Given the description of an element on the screen output the (x, y) to click on. 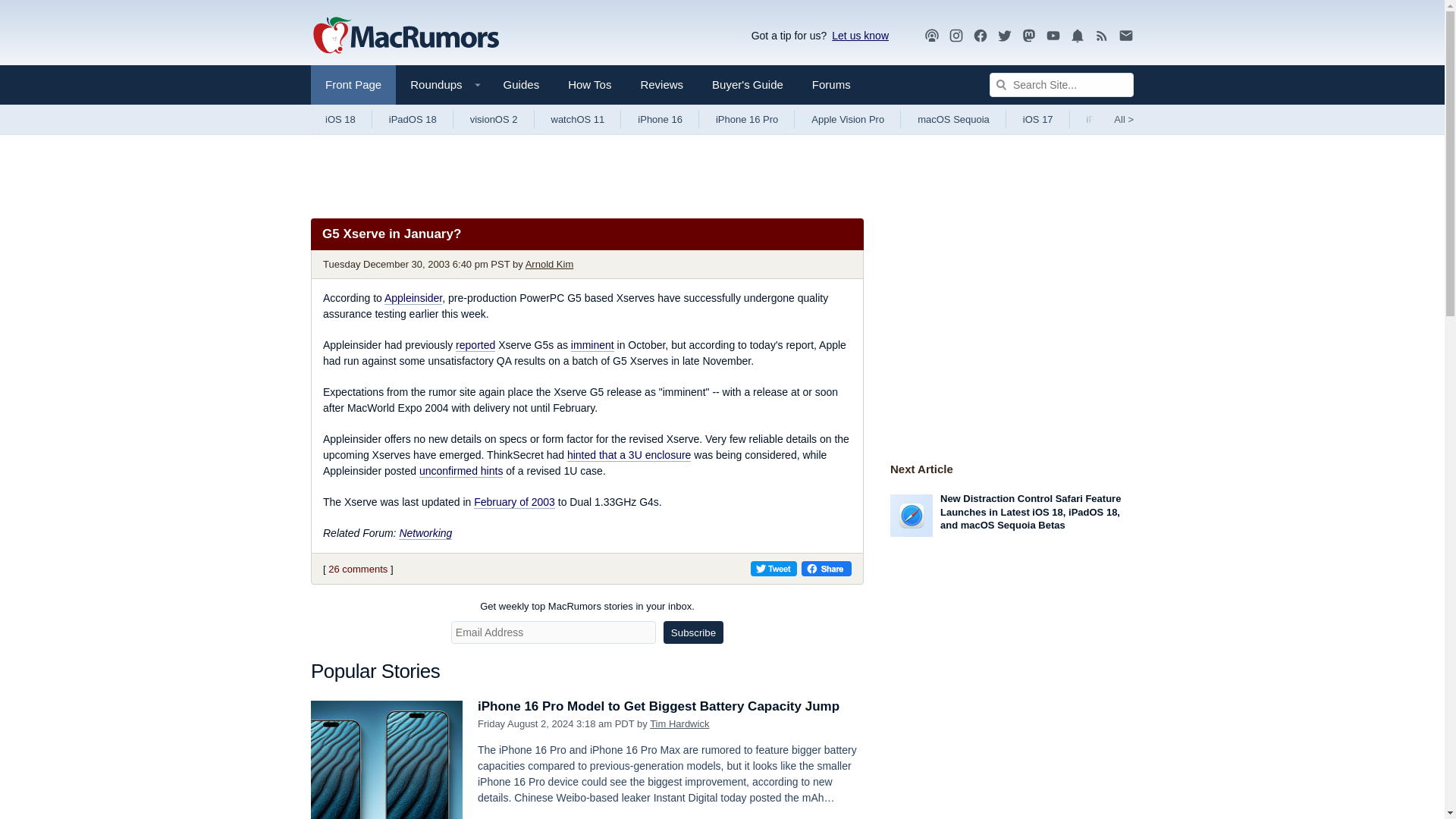
Notifications (1077, 35)
Facebook (980, 35)
Let us know (857, 35)
Twitter (1004, 35)
Newsletter (1126, 35)
Guides (521, 84)
How Tos (589, 84)
Mastodon (1029, 35)
Instagram (956, 35)
MacRumors Newsletter Signup (1126, 35)
MacRumors on Mastodon (1029, 35)
Notifications (1077, 35)
Subscribe (693, 631)
MacRumors FaceBook Page (980, 35)
Instagram (956, 35)
